Given the description of an element on the screen output the (x, y) to click on. 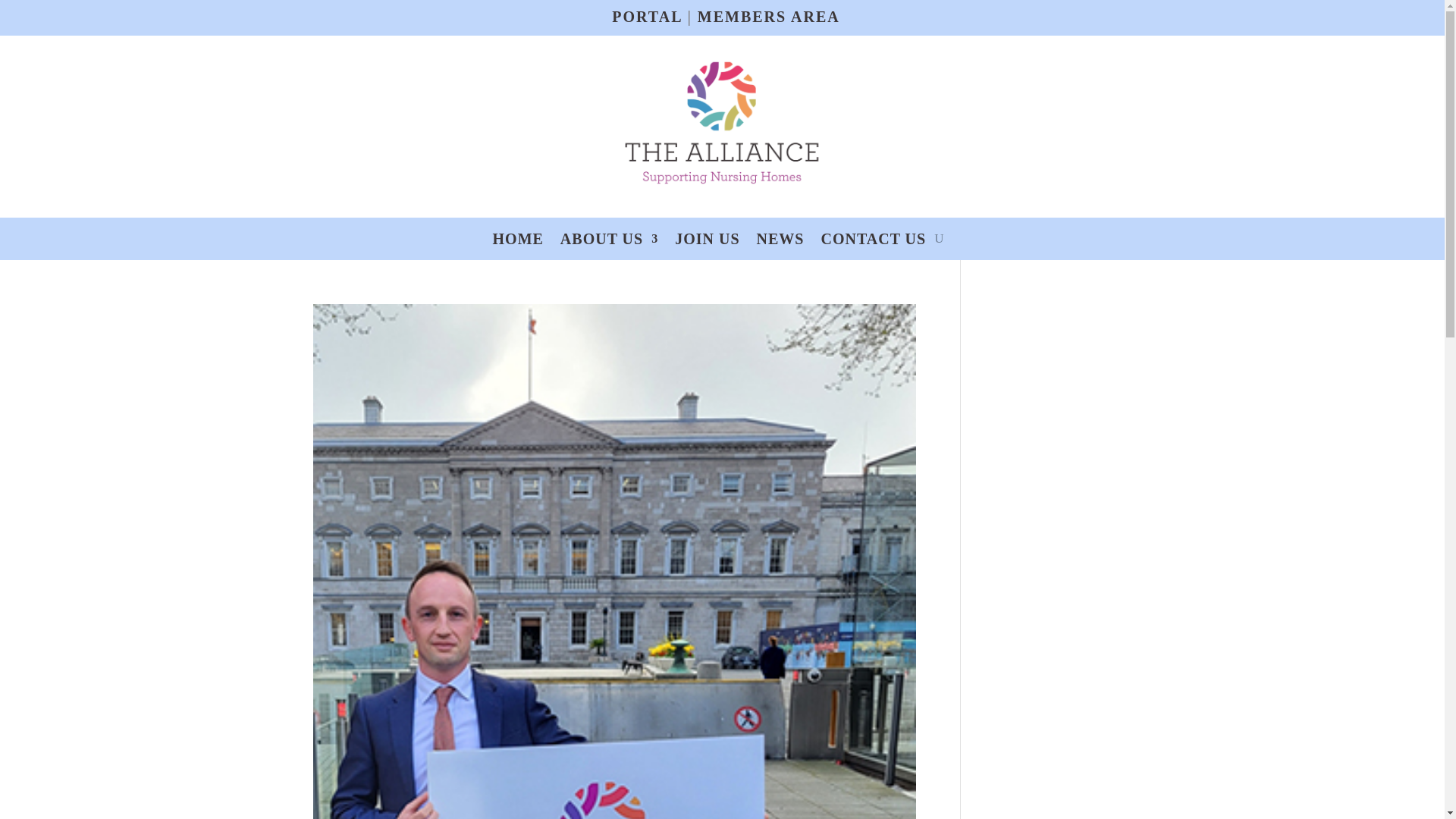
JOIN US (707, 241)
NEWS (781, 241)
CONTACT US (873, 241)
MEMBERS AREA (768, 16)
ALLIANCE LOGO copy (721, 122)
ABOUT US (609, 241)
PORTAL (646, 16)
HOME (518, 241)
